Given the description of an element on the screen output the (x, y) to click on. 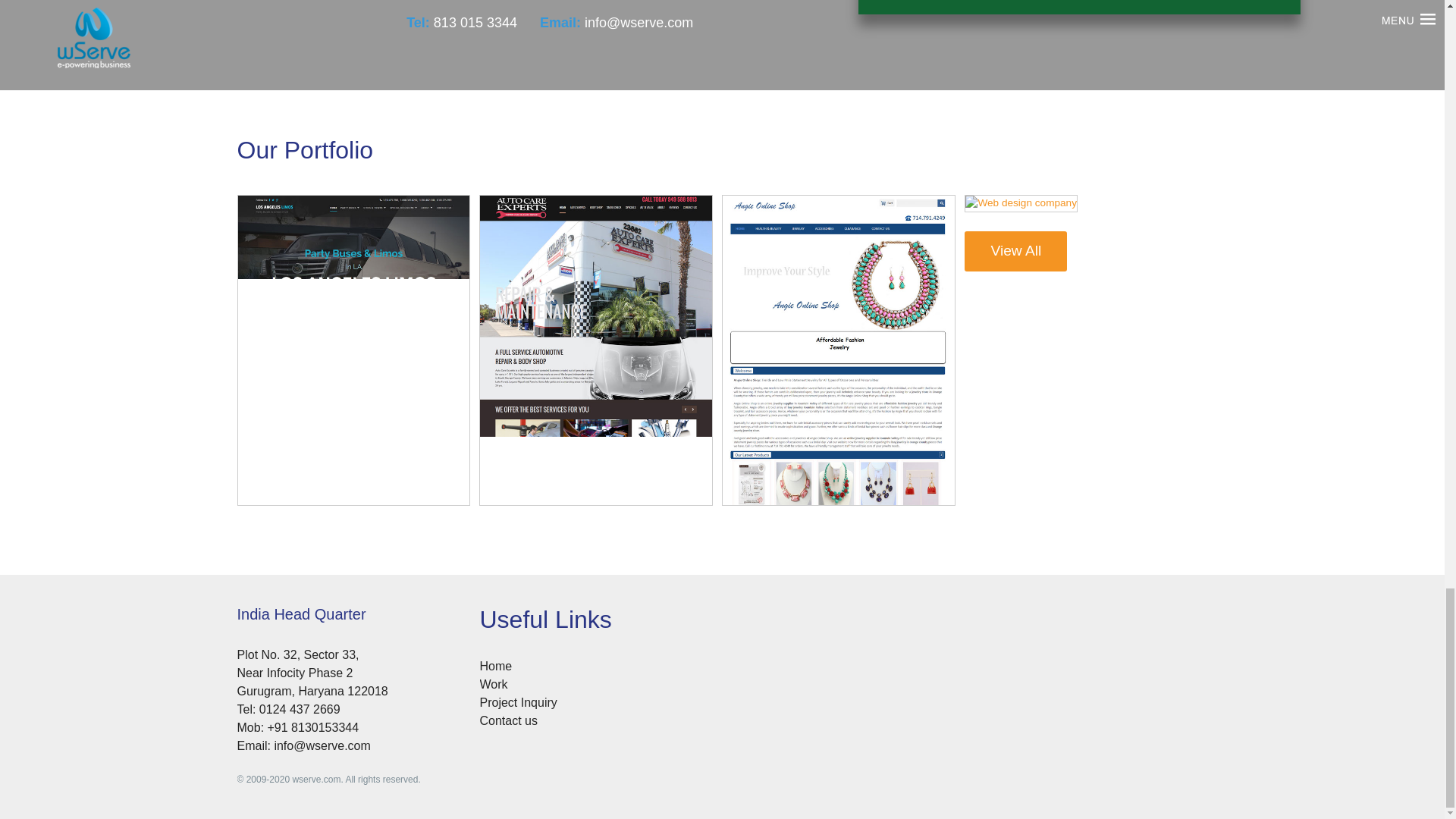
0124 437 2669 (299, 708)
View All (1015, 250)
Work (492, 684)
Home (495, 666)
Project Inquiry (517, 702)
Contact us (508, 720)
